Given the description of an element on the screen output the (x, y) to click on. 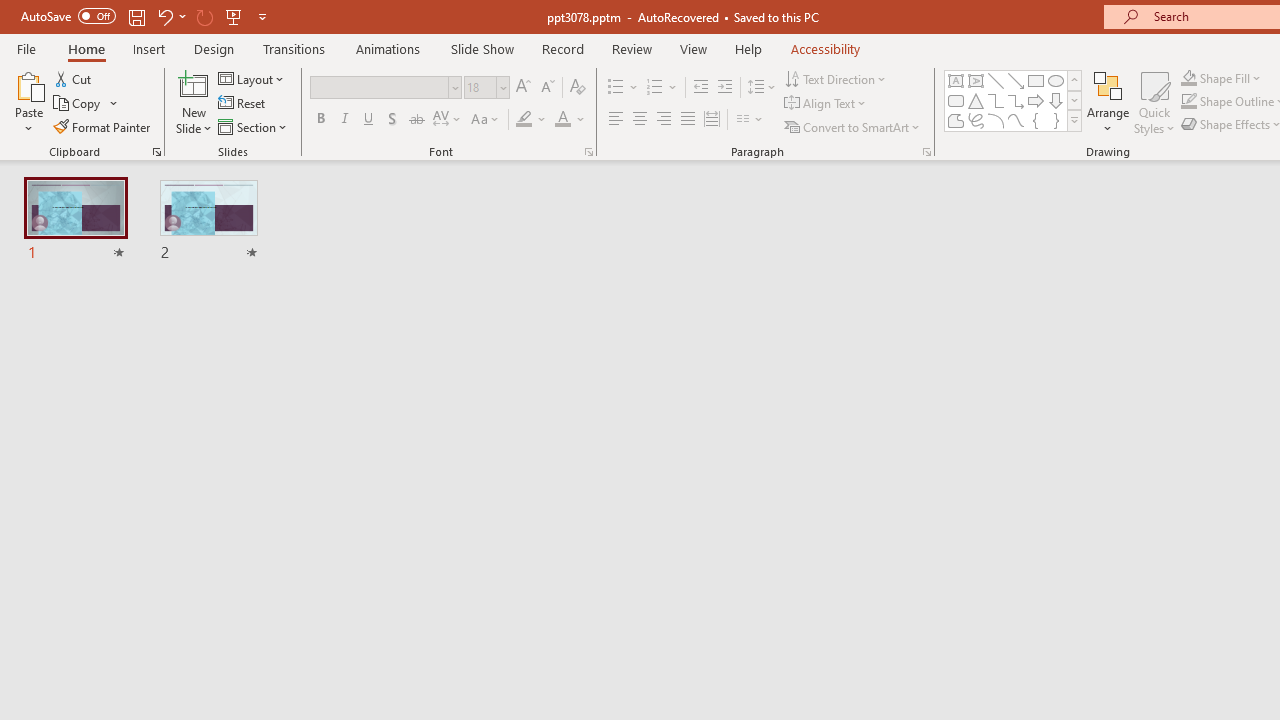
Shape Fill Dark Green, Accent 2 (1188, 78)
